Given the description of an element on the screen output the (x, y) to click on. 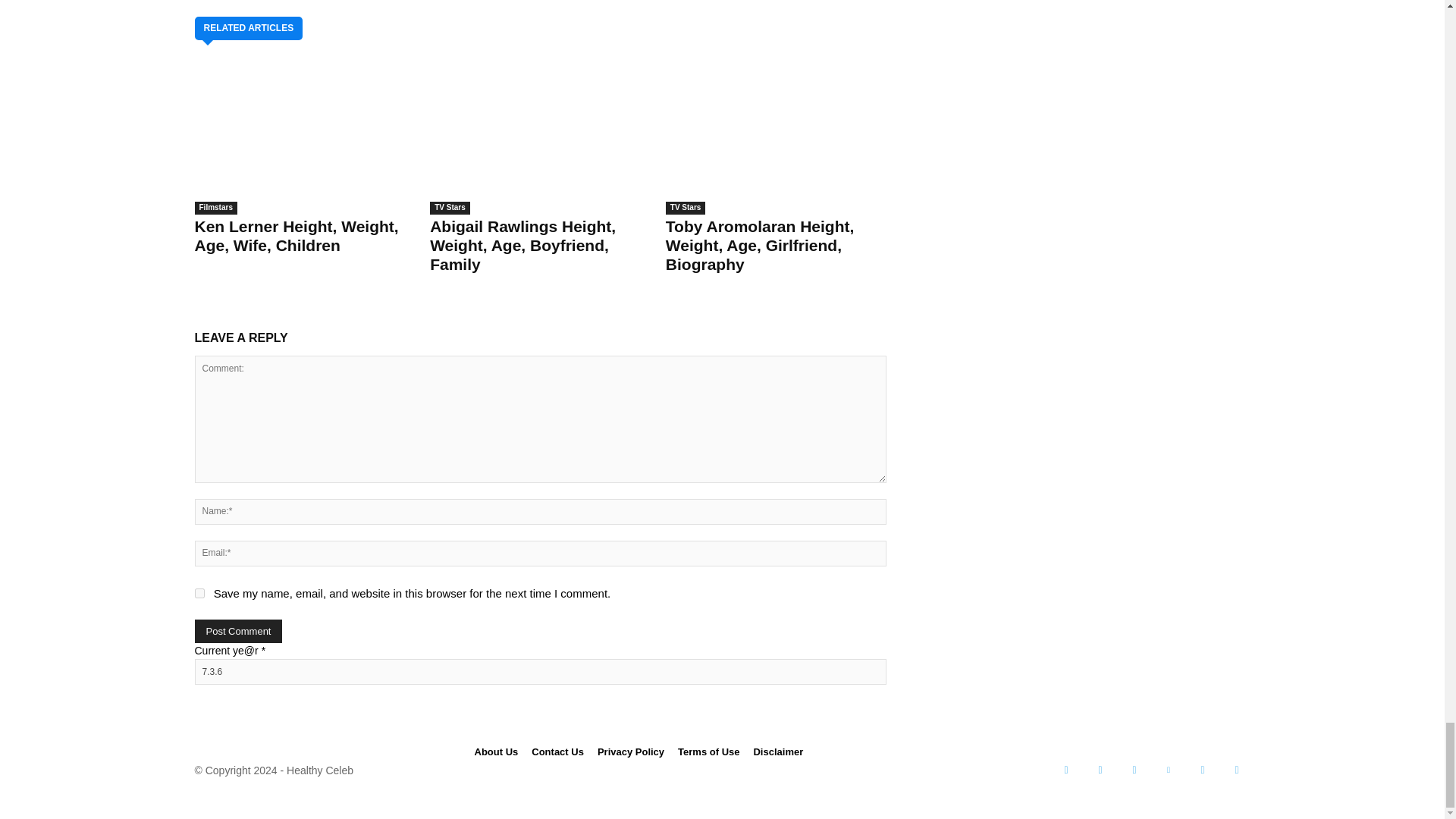
7.3.6 (539, 671)
yes (198, 593)
Post Comment (237, 630)
